Given the description of an element on the screen output the (x, y) to click on. 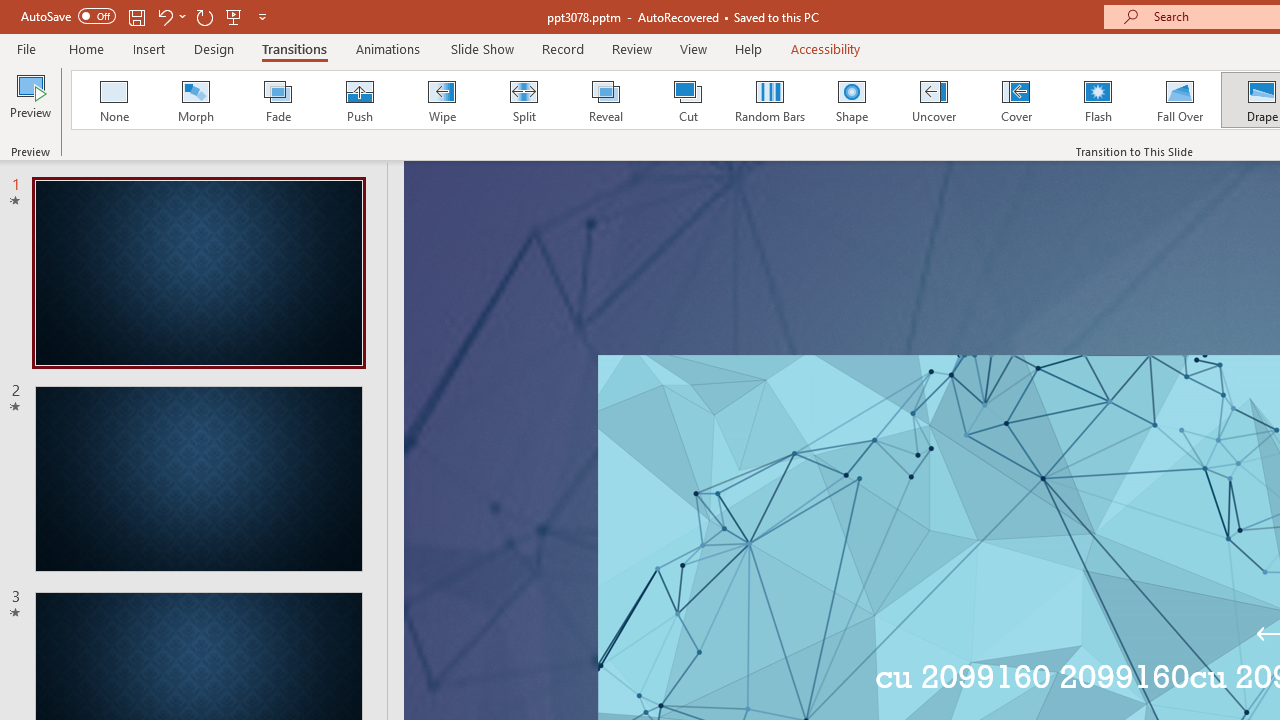
Uncover (934, 100)
Push (359, 100)
Morph (195, 100)
